Given the description of an element on the screen output the (x, y) to click on. 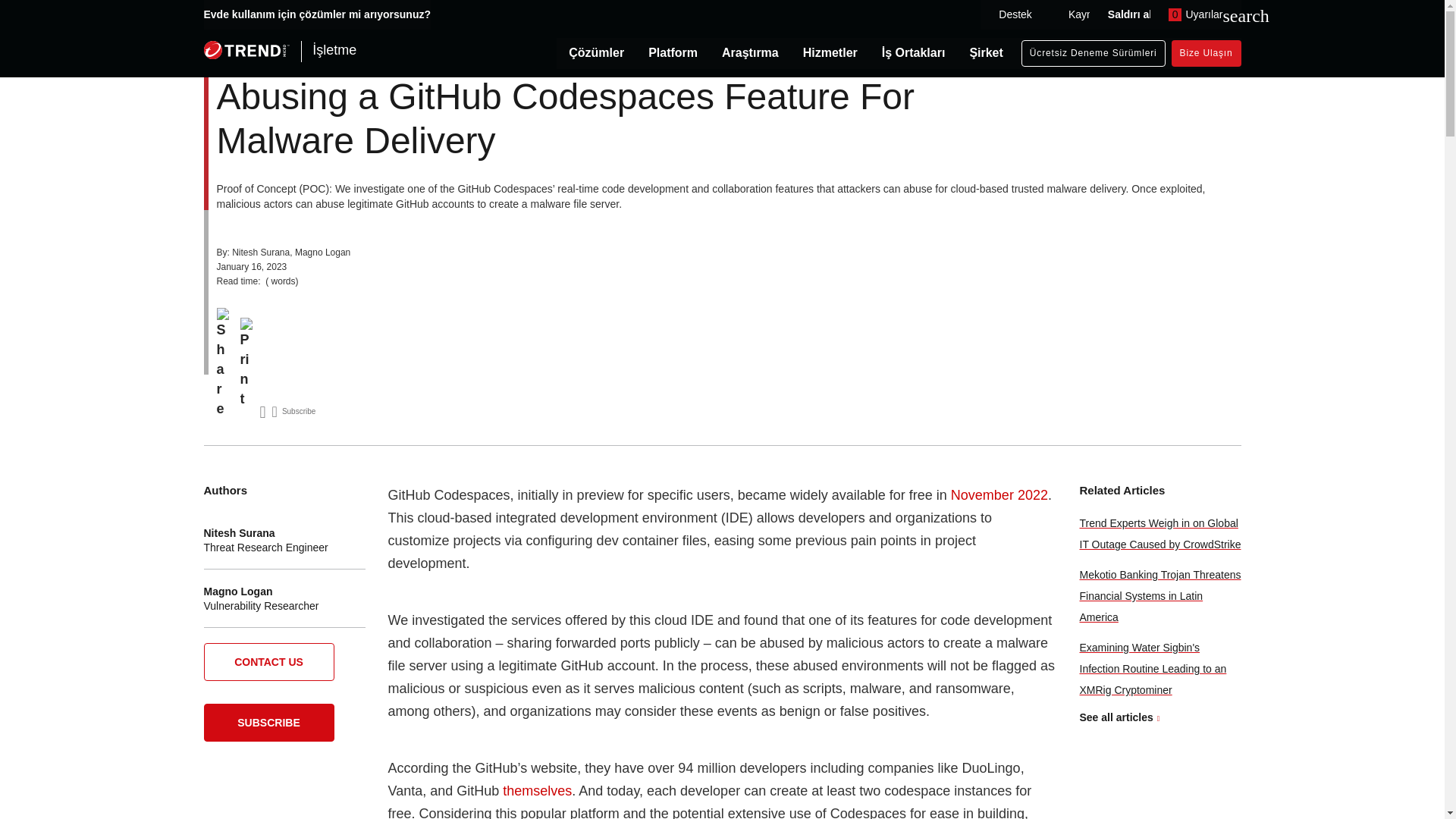
Subscribe (293, 412)
